Given the description of an element on the screen output the (x, y) to click on. 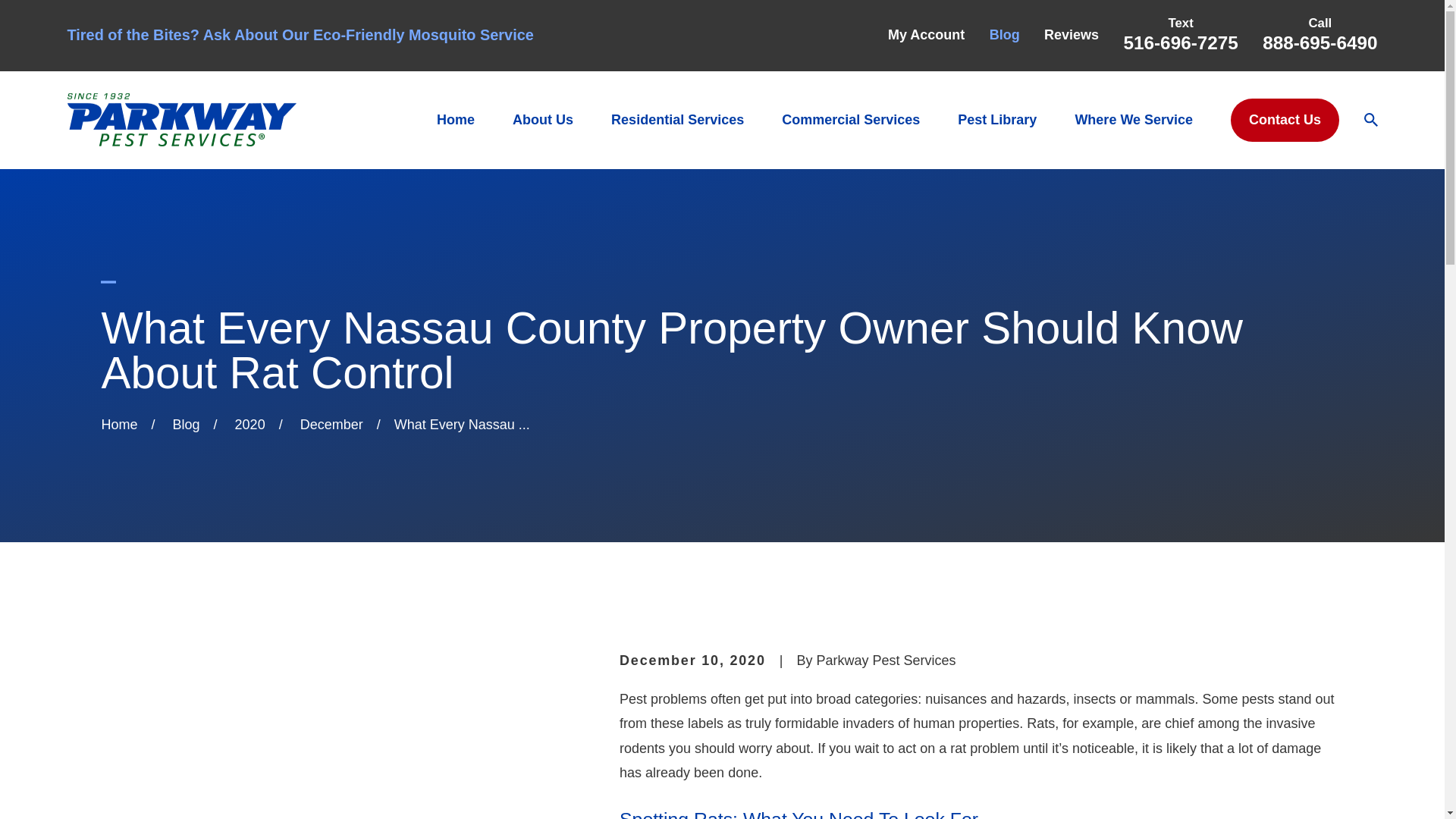
Blog (1005, 34)
My Account (925, 34)
Commercial Services (850, 120)
Residential Services (677, 120)
Reviews (1071, 34)
About Us (542, 120)
Go Home (118, 424)
Home (180, 119)
888-695-6490 (1319, 42)
